Given the description of an element on the screen output the (x, y) to click on. 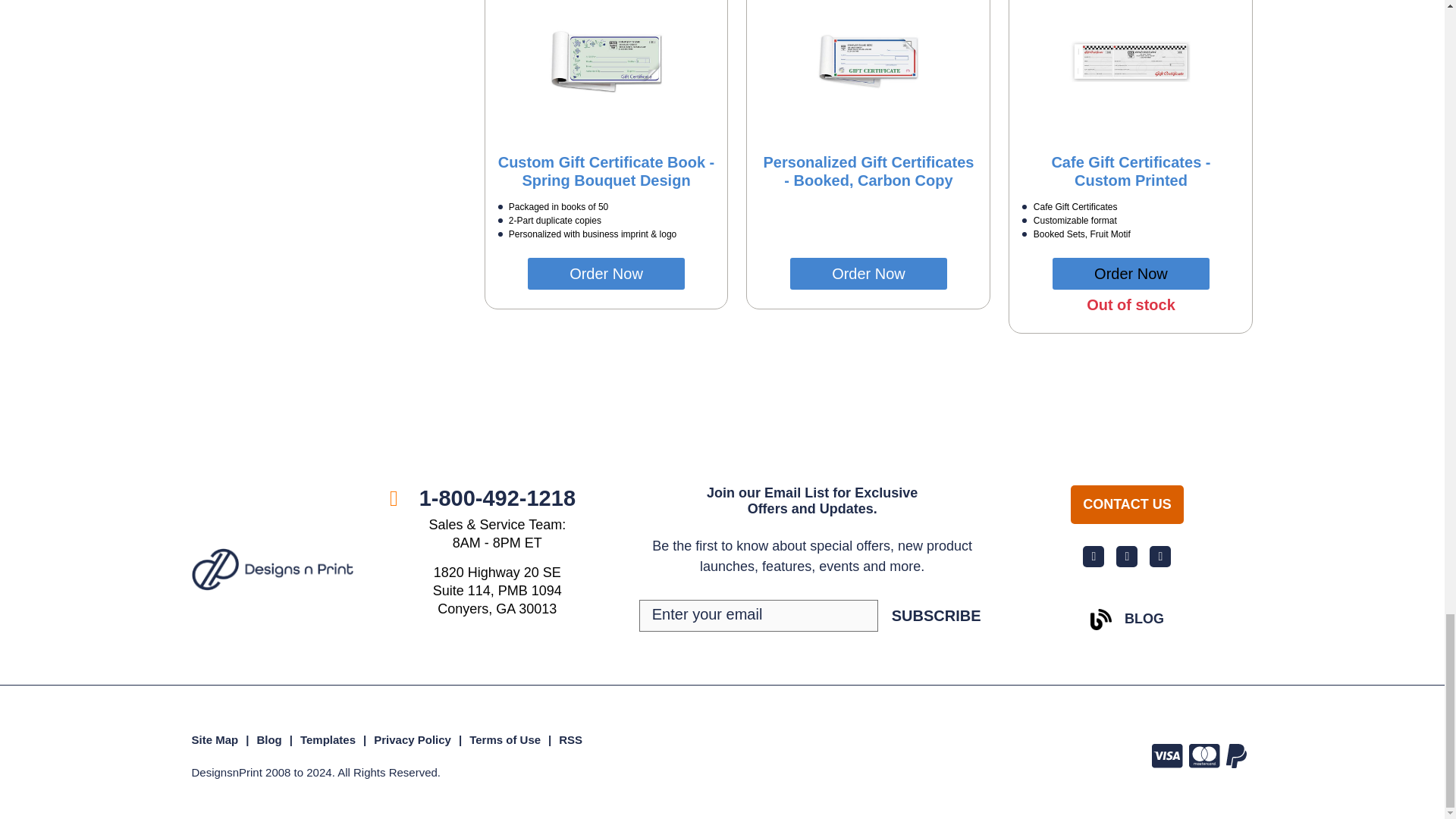
SUBSCRIBE (935, 615)
